Given the description of an element on the screen output the (x, y) to click on. 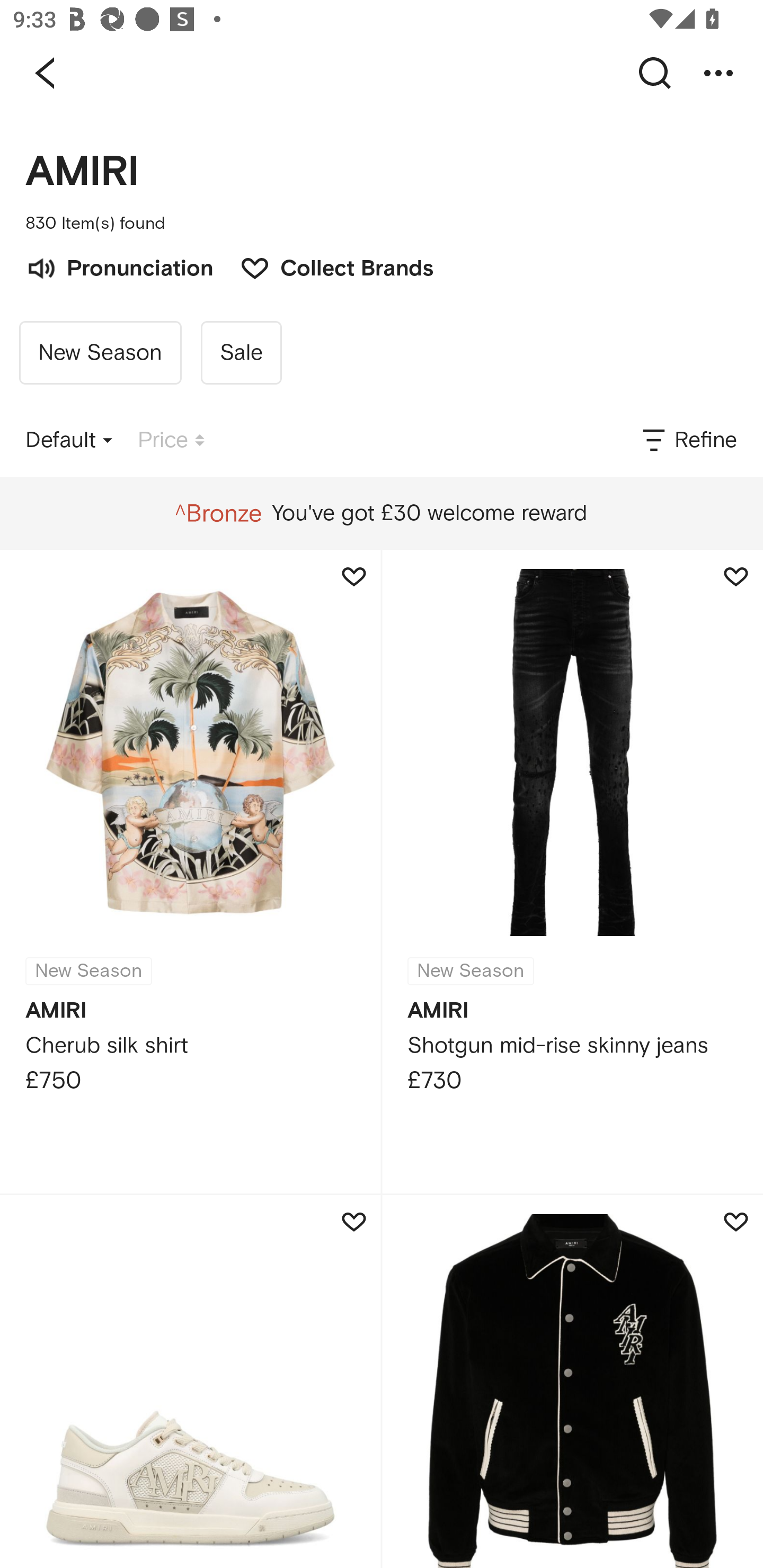
Pronunciation (119, 266)
Collect Brands (327, 266)
New Season (100, 352)
Sale (240, 352)
Default (68, 440)
Price (171, 440)
Refine (688, 440)
You've got £30 welcome reward (381, 513)
New Season AMIRI Cherub silk shirt £750 (190, 871)
